Given the description of an element on the screen output the (x, y) to click on. 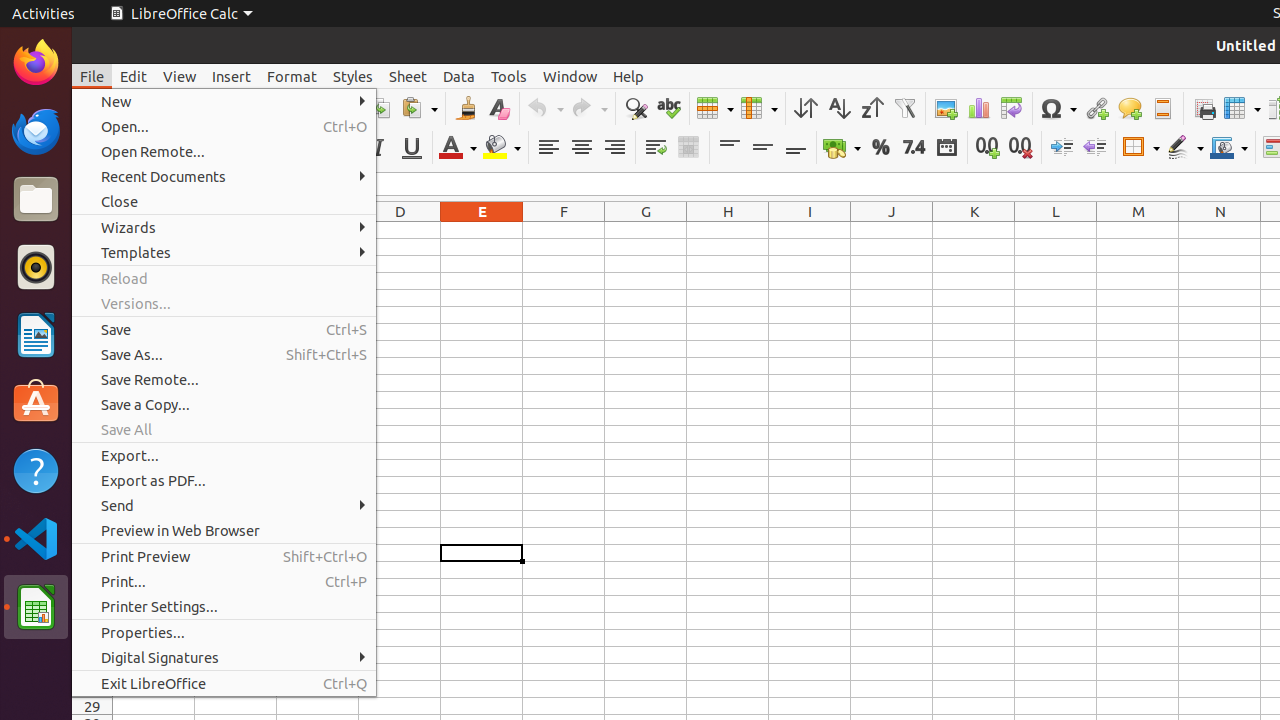
Percent Element type: push-button (880, 147)
Sheet Element type: menu (408, 76)
Center Vertically Element type: push-button (762, 147)
Wrap Text Element type: push-button (655, 147)
Pivot Table Element type: push-button (1011, 108)
